Given the description of an element on the screen output the (x, y) to click on. 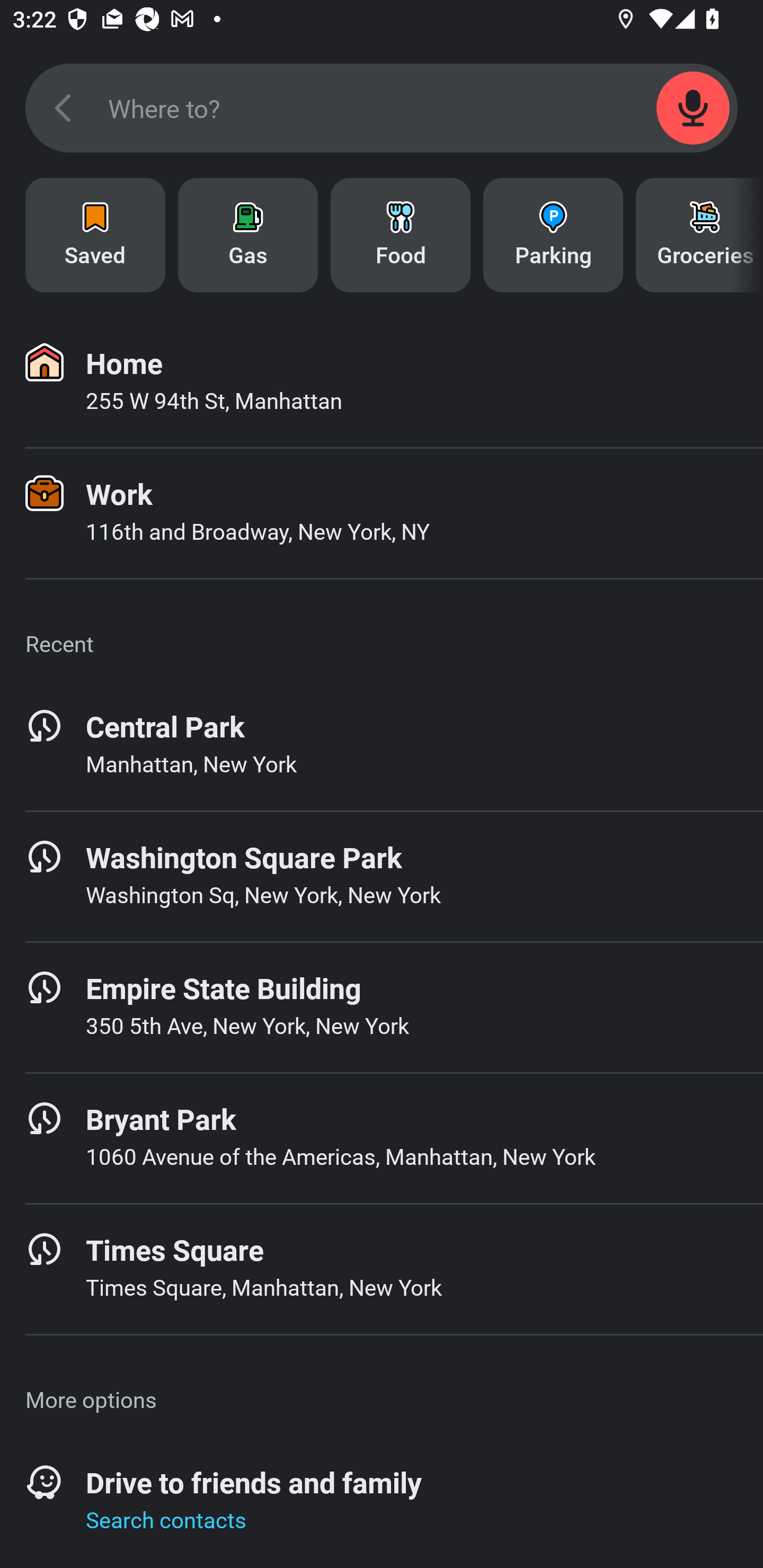
SEARCH_SCREEN_SEARCH_FIELD Where to? (381, 108)
Saved (95, 234)
Gas (247, 234)
Food (400, 234)
Parking (552, 234)
Groceries (699, 234)
Home 255 W 94th St, Manhattan (381, 382)
Work 116th and Broadway, New York, NY (381, 513)
Central Park Manhattan, New York (381, 745)
Times Square Times Square, Manhattan, New York (381, 1269)
Drive to friends and family Search contacts (381, 1501)
